Given the description of an element on the screen output the (x, y) to click on. 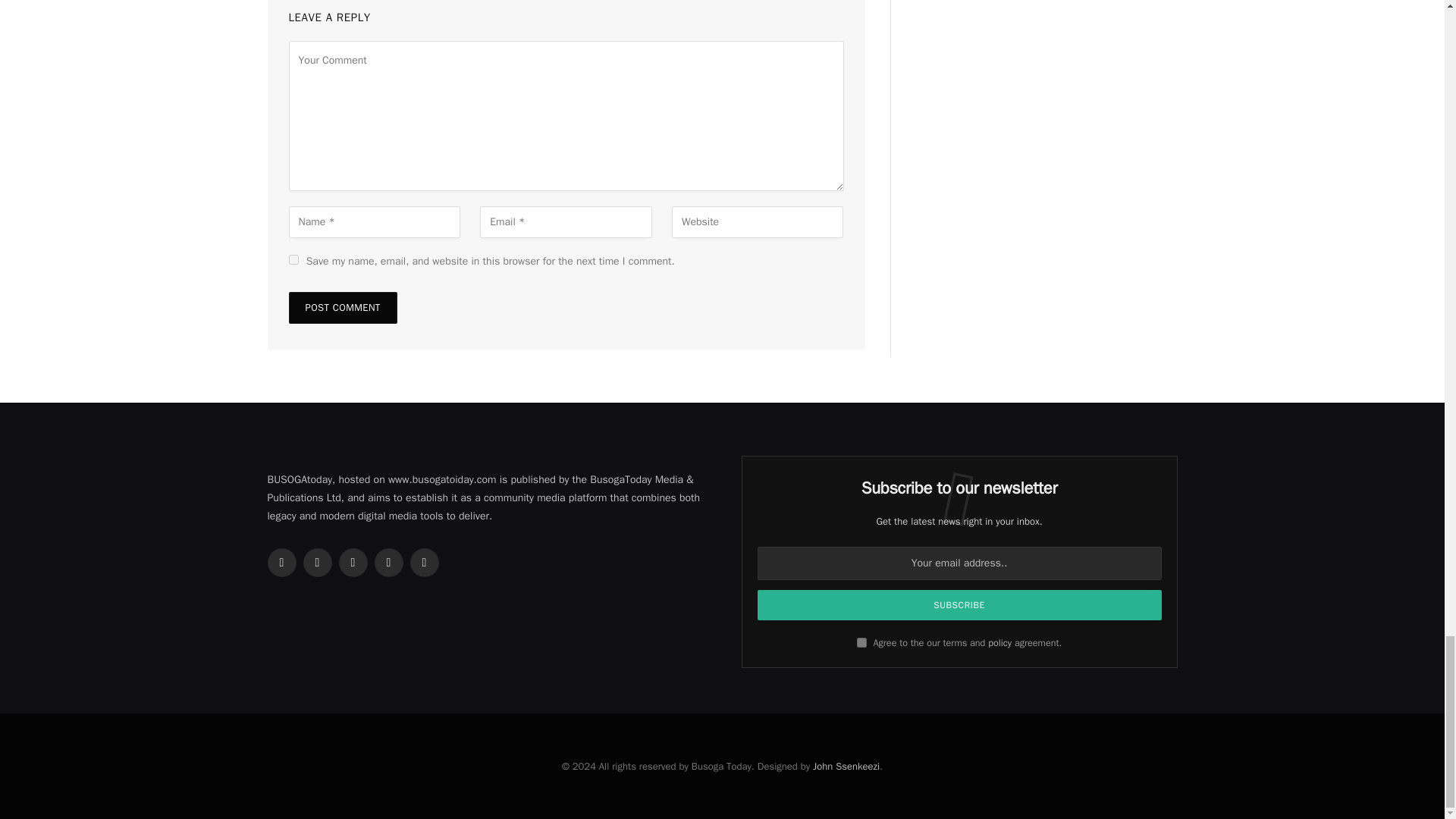
yes (293, 259)
Subscribe (958, 604)
on (861, 642)
Post Comment (342, 307)
